Given the description of an element on the screen output the (x, y) to click on. 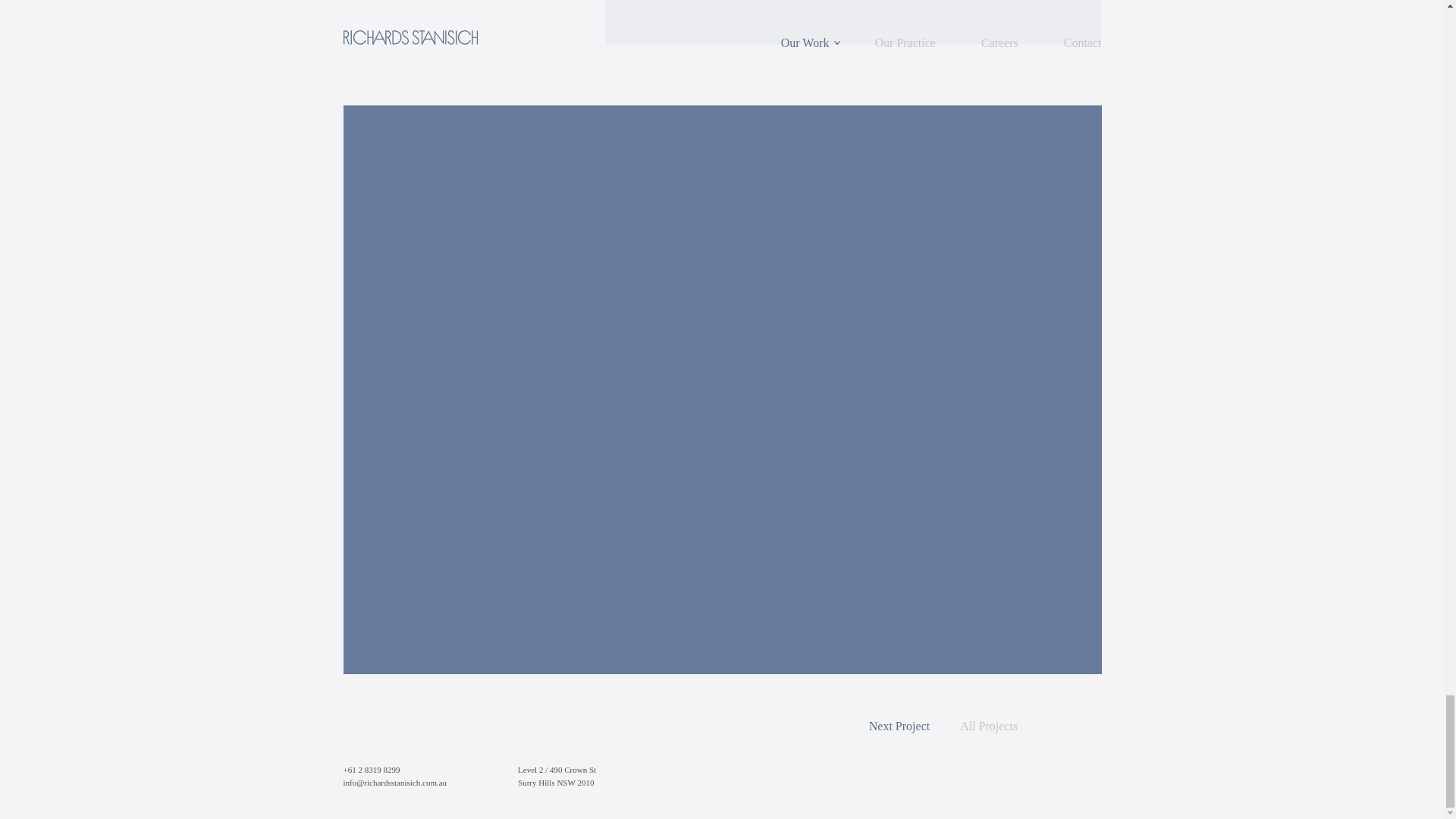
All Projects (988, 726)
Next Project (899, 726)
